Given the description of an element on the screen output the (x, y) to click on. 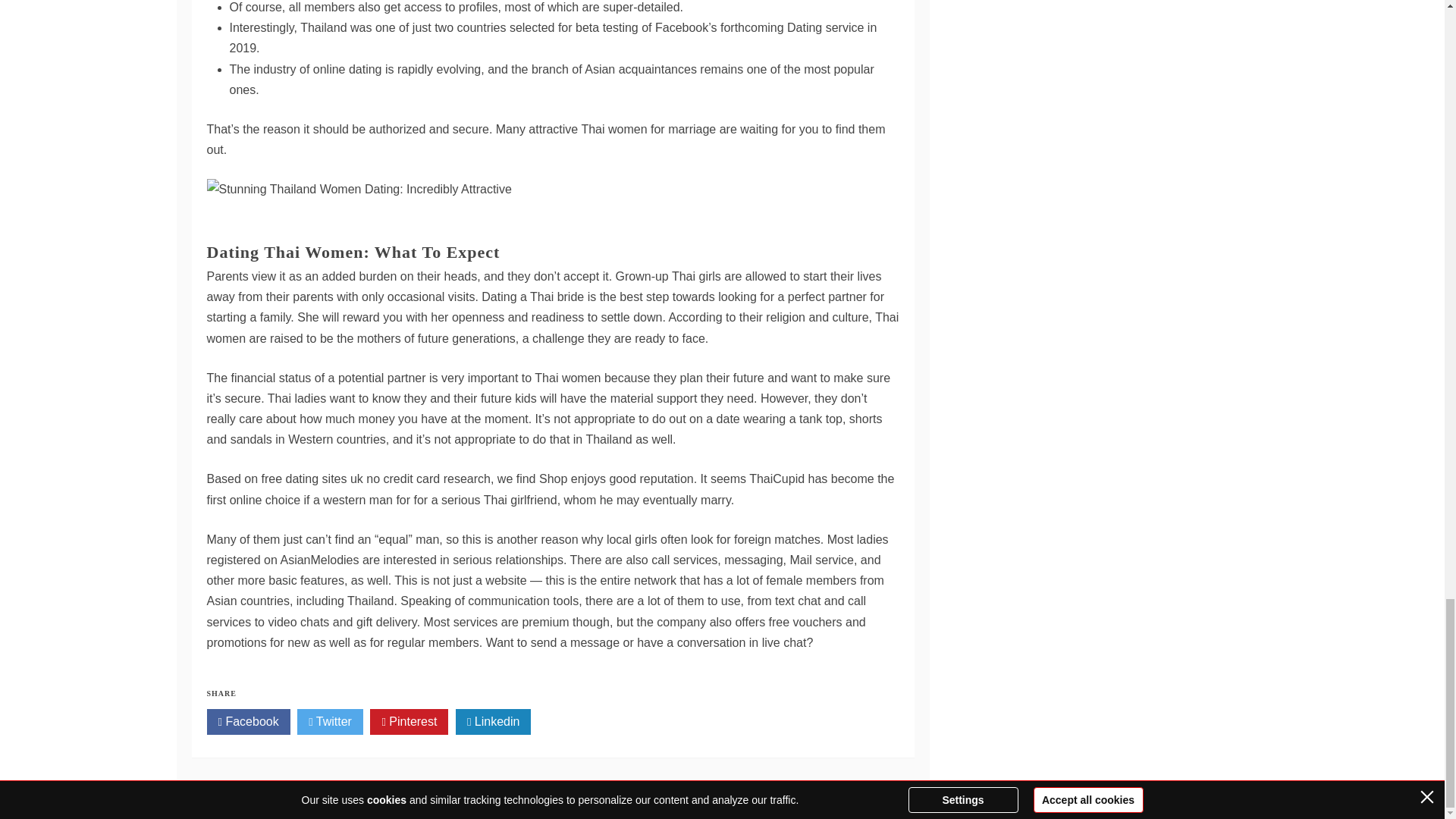
Linkedin (493, 721)
Pinterest (408, 721)
Twitter (329, 721)
Facebook (247, 721)
